Given the description of an element on the screen output the (x, y) to click on. 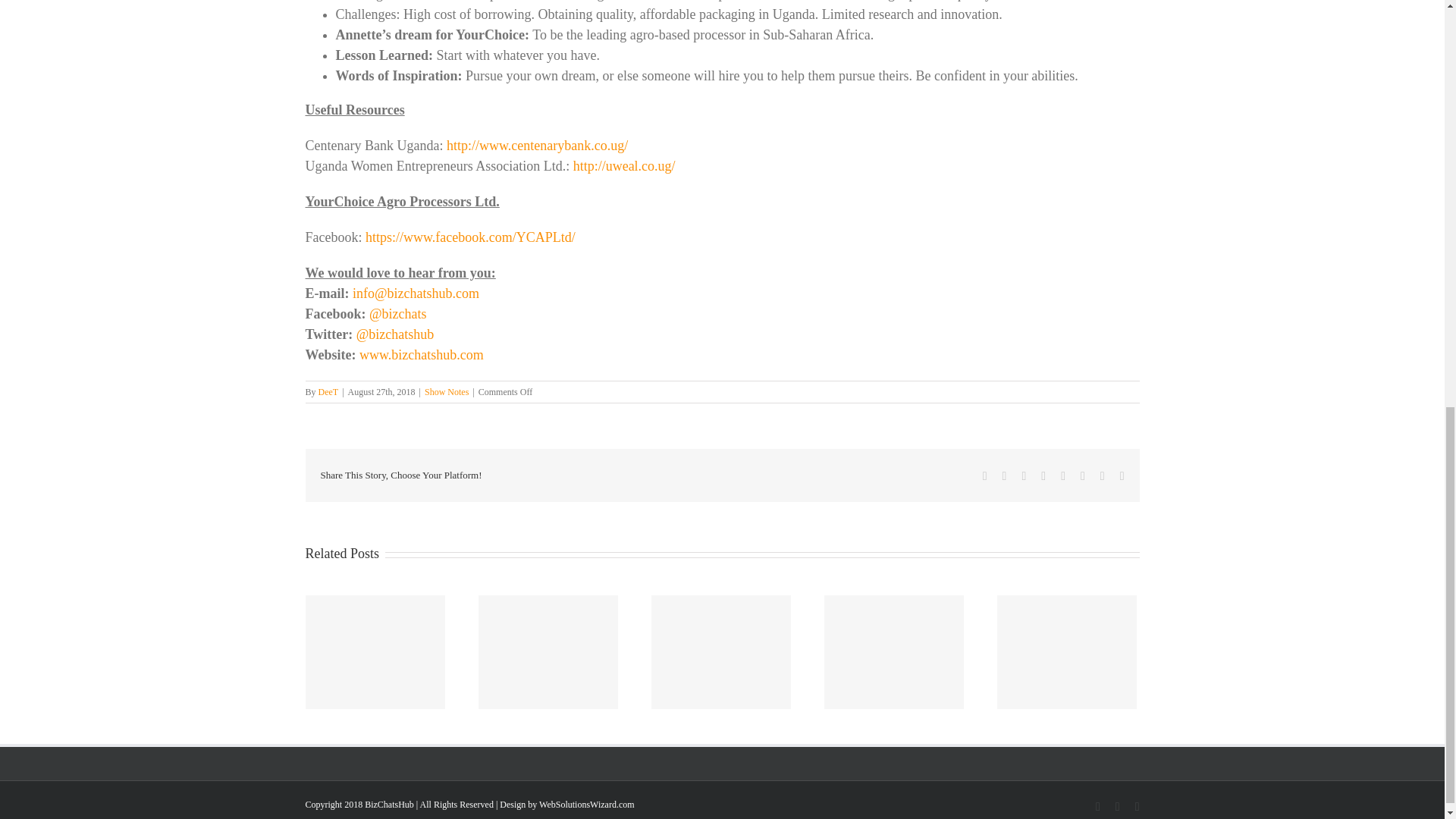
Show Notes (446, 391)
www.bizchatshub.com (421, 354)
DeeT (328, 391)
Posts by DeeT (328, 391)
